Given the description of an element on the screen output the (x, y) to click on. 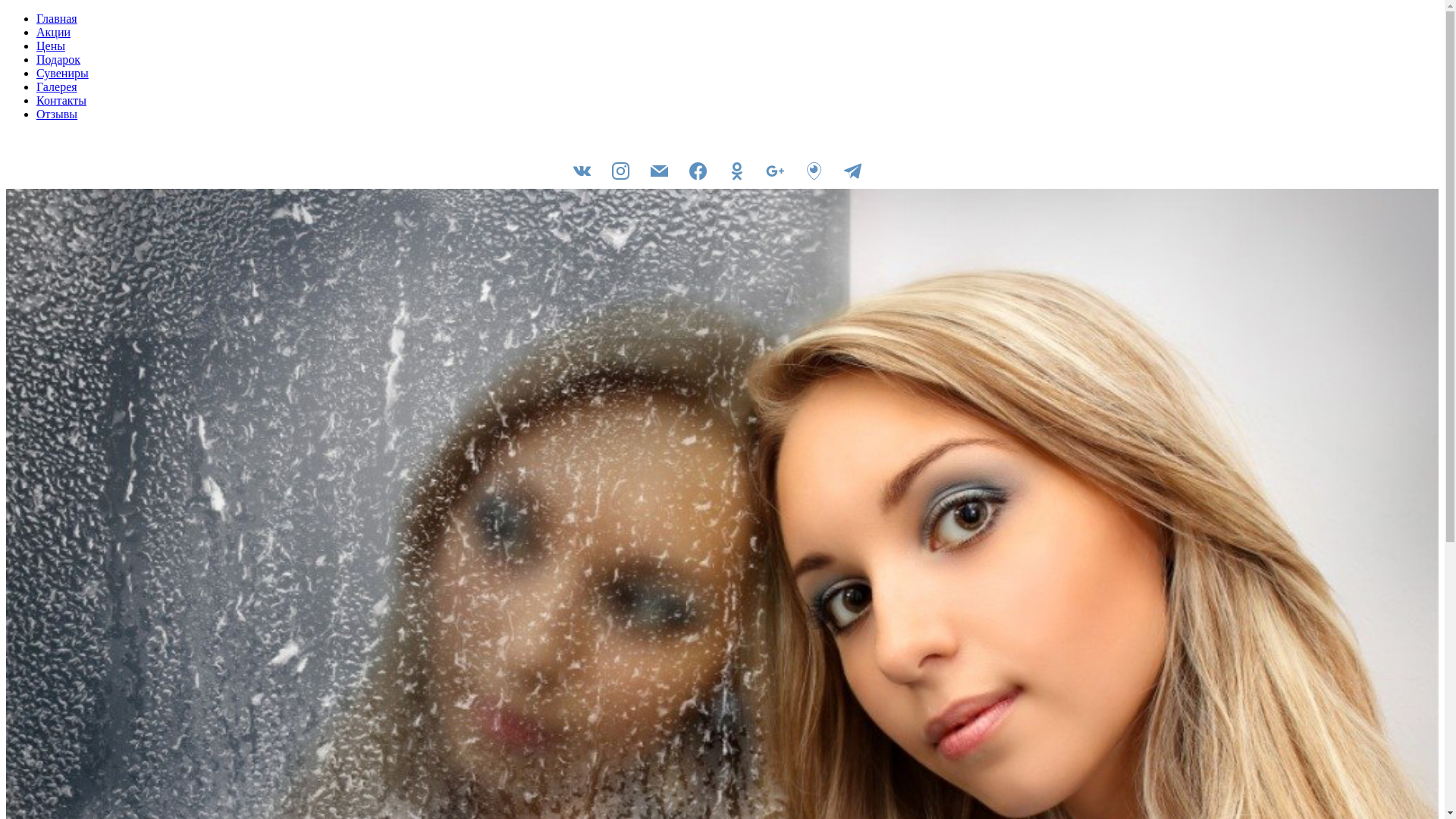
periscope Element type: text (813, 169)
odnoklassniki Element type: text (736, 169)
google Element type: text (774, 169)
vkontakte Element type: text (581, 169)
telegram Element type: text (851, 169)
facebook Element type: text (697, 169)
mail Element type: text (659, 169)
instagram Element type: text (619, 169)
